Given the description of an element on the screen output the (x, y) to click on. 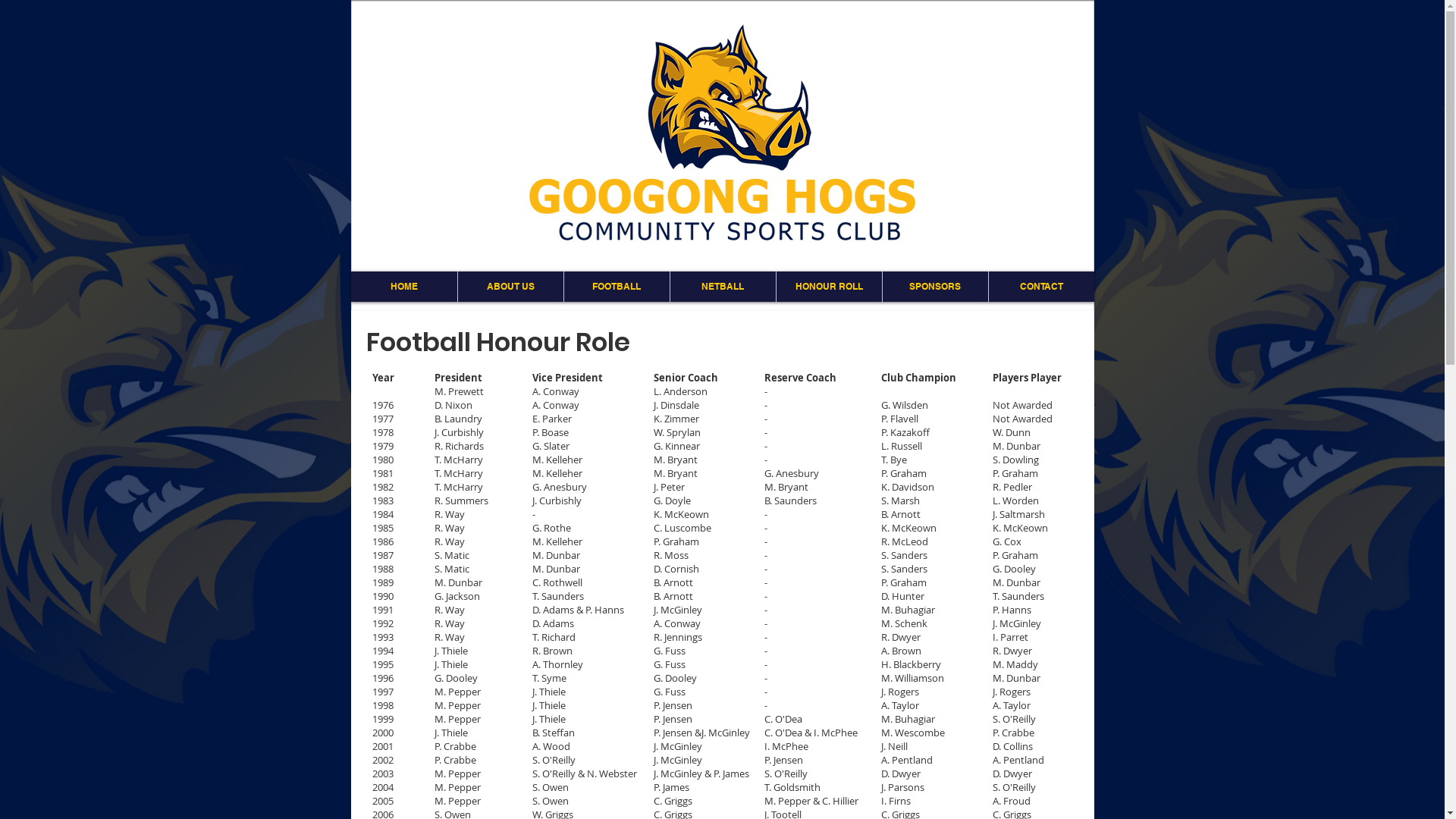
SPONSORS Element type: text (934, 286)
HOME Element type: text (403, 286)
CONTACT Element type: text (1040, 286)
ABOUT US Element type: text (509, 286)
FOOTBALL Element type: text (615, 286)
HONOUR ROLL Element type: text (828, 286)
NETBALL Element type: text (721, 286)
